Given the description of an element on the screen output the (x, y) to click on. 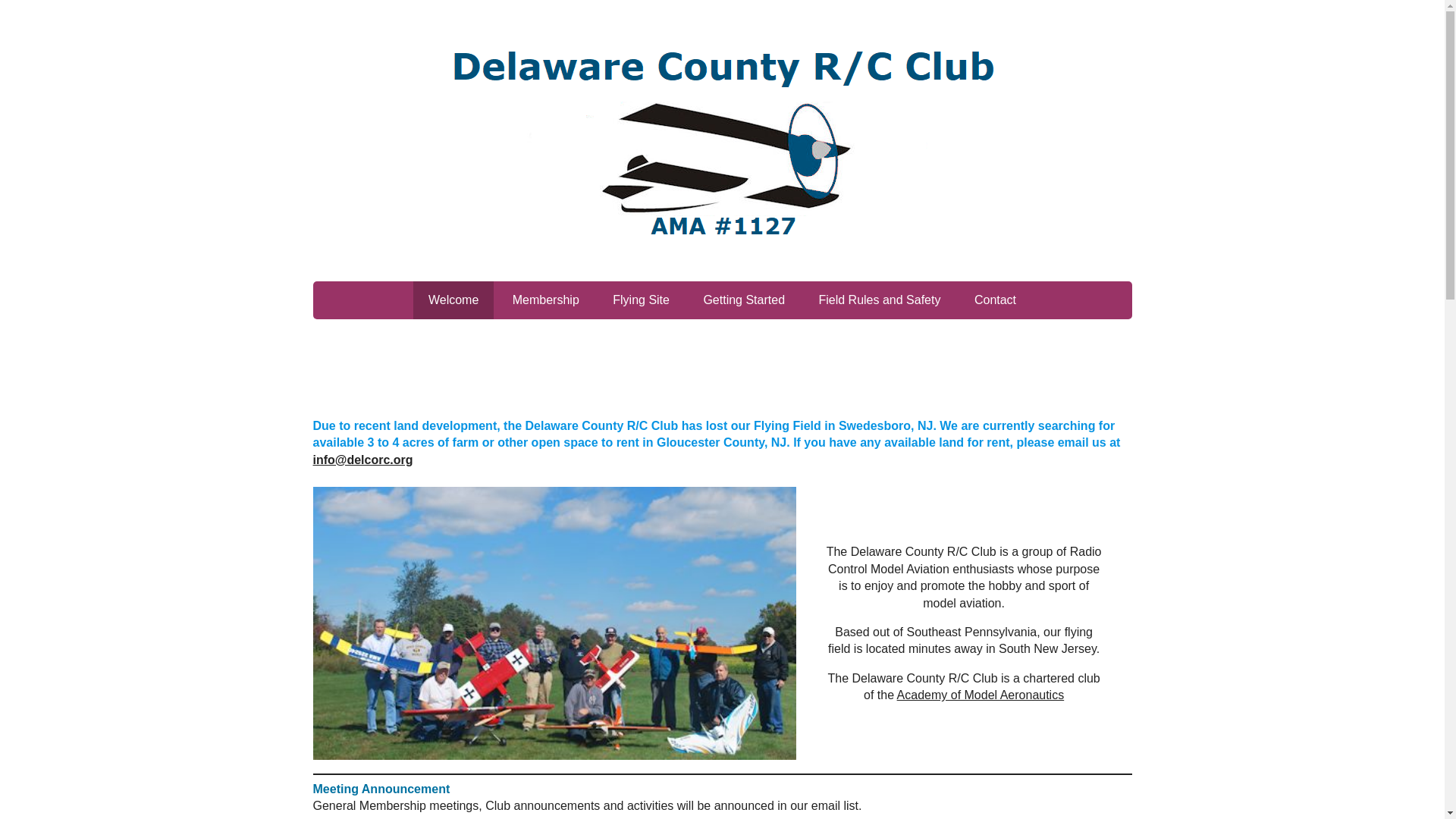
Contact (994, 300)
Academy of Model Aeronautics (980, 694)
Flying Site (640, 300)
Membership (545, 300)
Getting Started (743, 300)
Field Rules and Safety (879, 300)
